Given the description of an element on the screen output the (x, y) to click on. 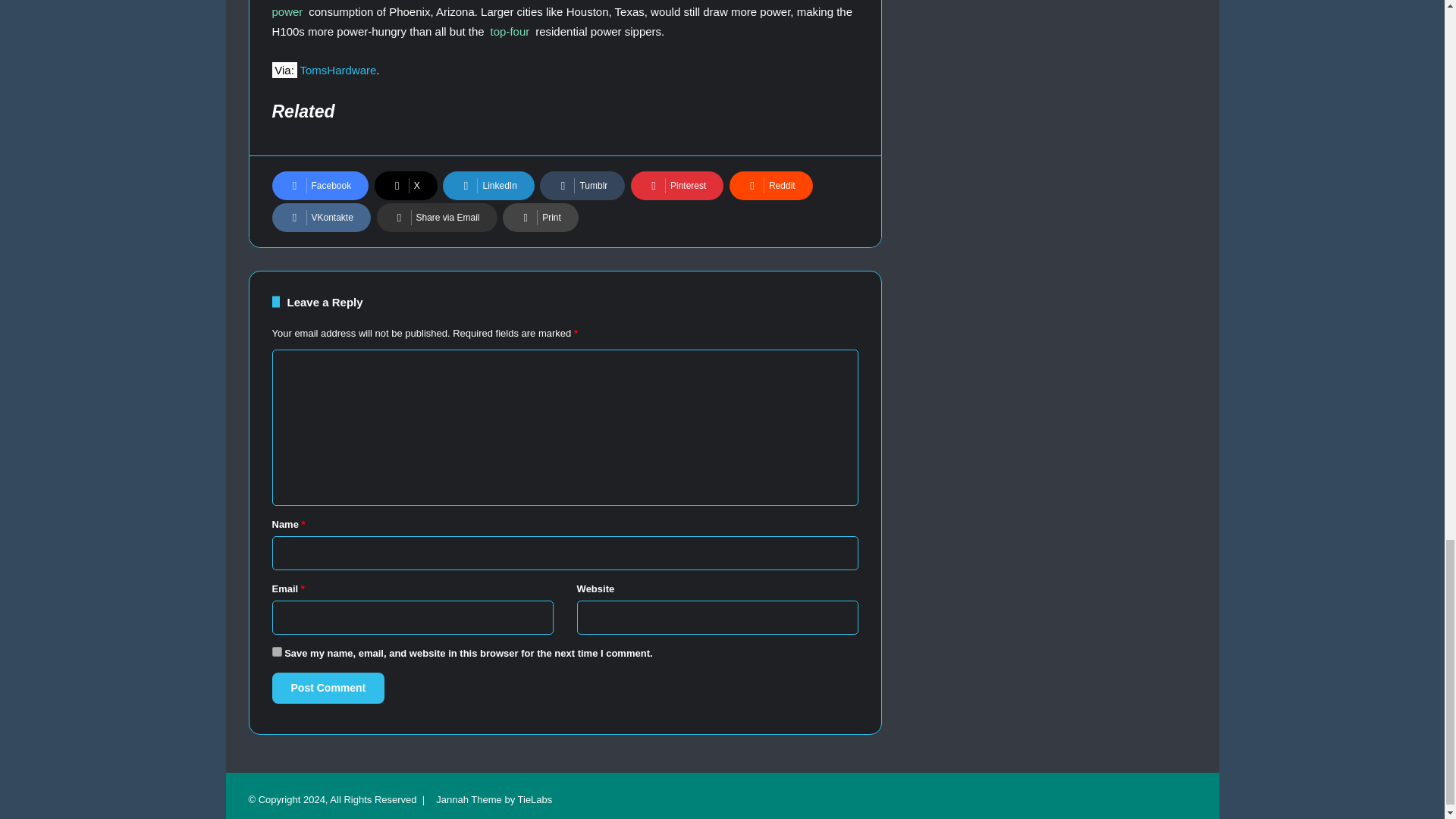
Post Comment (327, 687)
Post Comment (327, 687)
Tumblr (582, 185)
Tumblr (582, 185)
Facebook (319, 185)
Share via Email (435, 217)
Pinterest (676, 185)
Jannah Theme by TieLabs (493, 799)
Print (540, 217)
X (406, 185)
Facebook (319, 185)
Share via Email (435, 217)
Reddit (770, 185)
Pinterest (676, 185)
Print (540, 217)
